Given the description of an element on the screen output the (x, y) to click on. 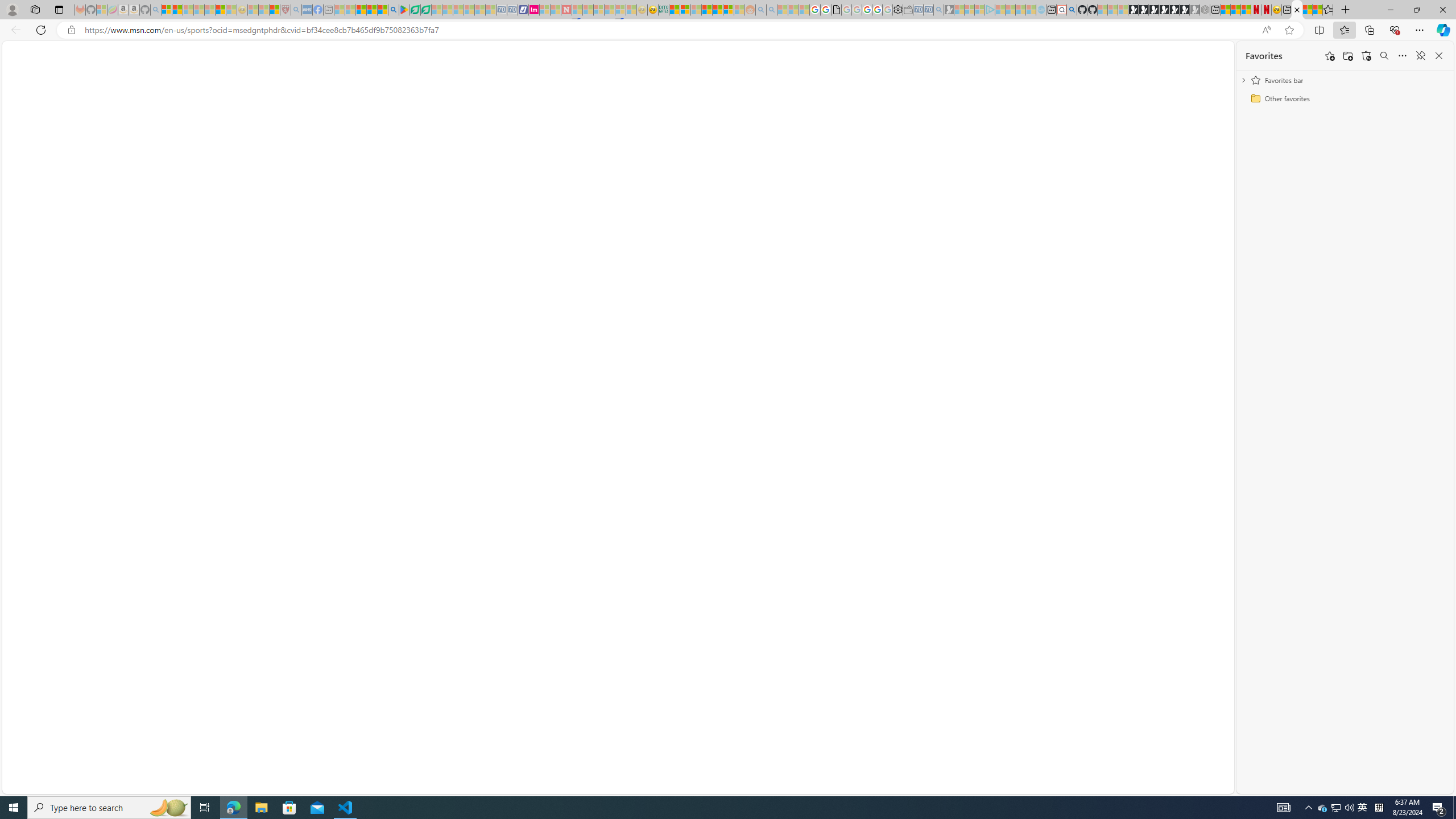
Search favorites (1383, 55)
google_privacy_policy_zh-CN.pdf (836, 9)
Add this page to favorites (1330, 55)
